Given the description of an element on the screen output the (x, y) to click on. 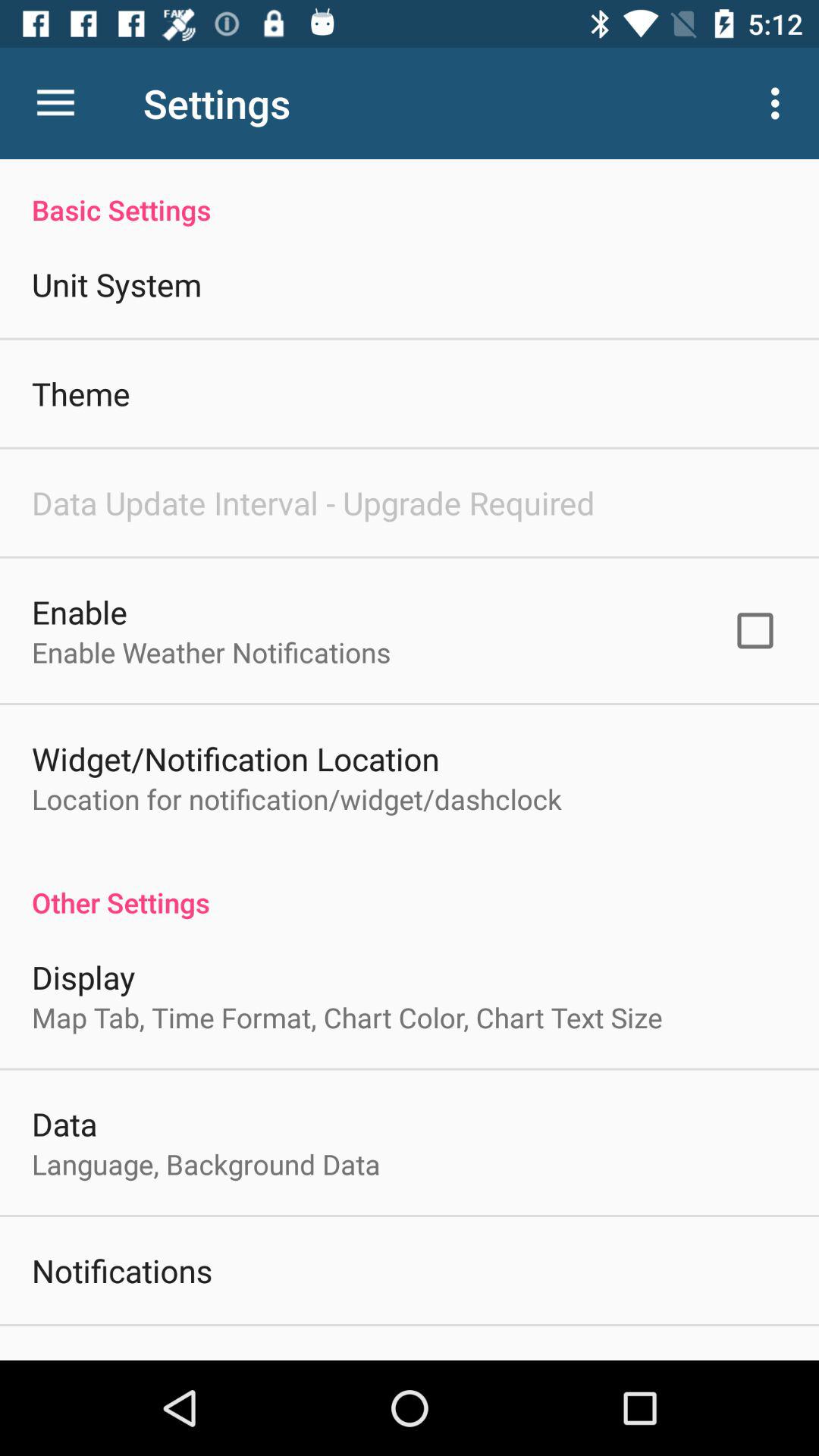
flip to basic settings (409, 193)
